Given the description of an element on the screen output the (x, y) to click on. 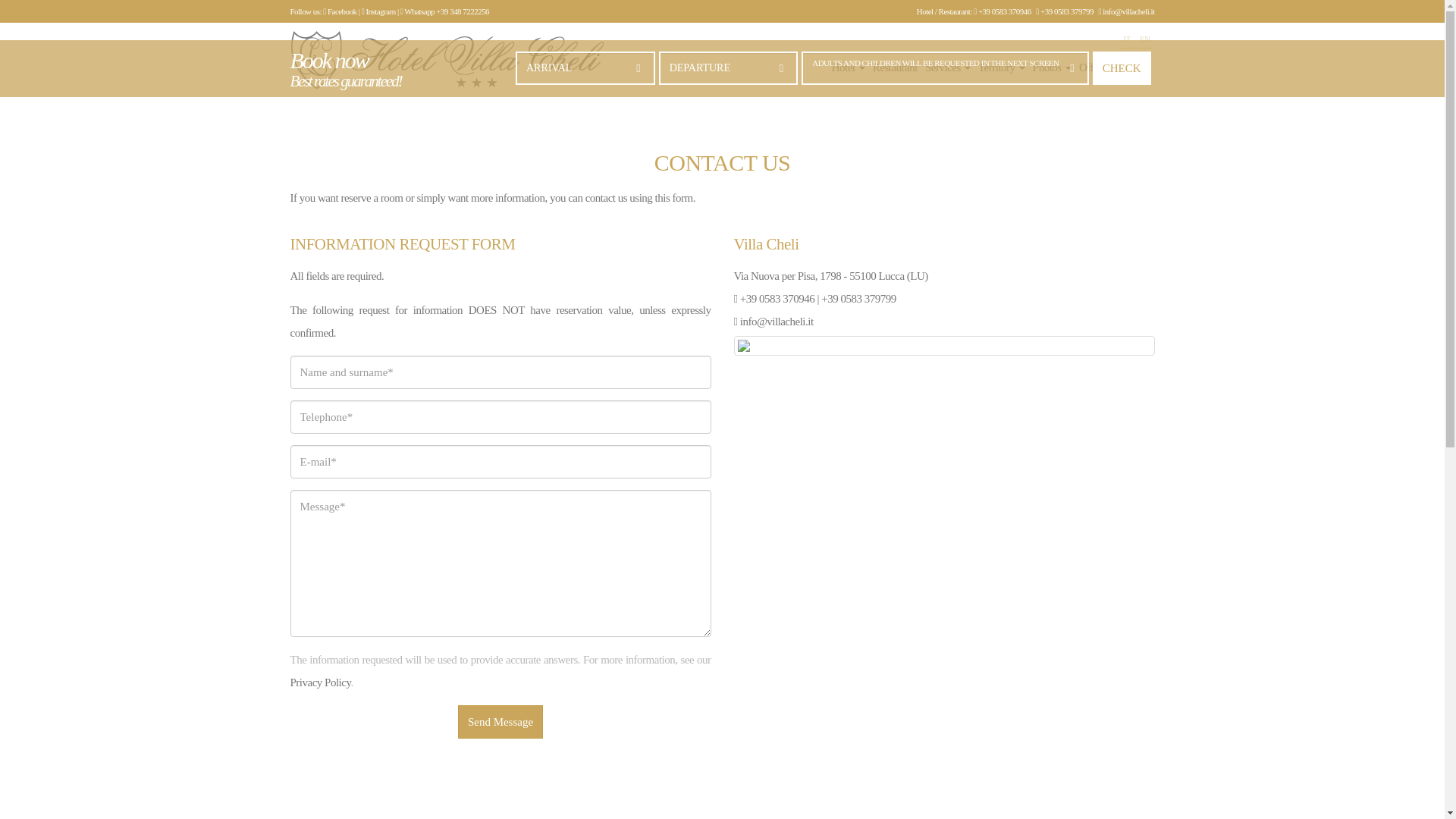
Hotel (847, 68)
Facebook (340, 10)
Send Message (500, 721)
Offers (1091, 68)
Privacy Policy (319, 682)
Photos (1051, 68)
CHECK (1122, 67)
Services (947, 68)
Restaurant (894, 68)
Instagram (378, 10)
